Given the description of an element on the screen output the (x, y) to click on. 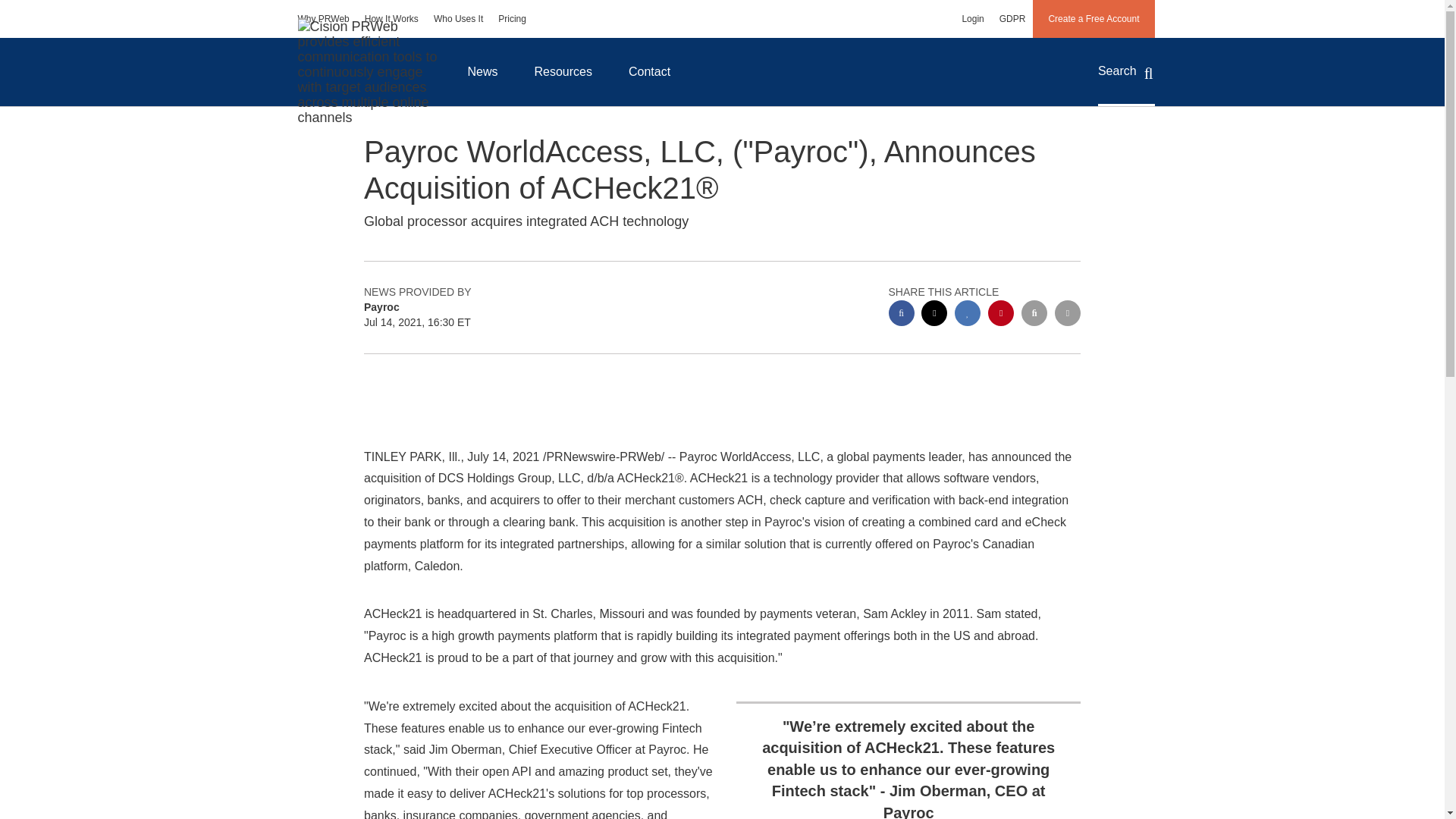
Pricing (512, 18)
GDPR (1012, 18)
Why PRWeb (322, 18)
News (481, 71)
Resources (563, 71)
Login (972, 18)
Who Uses It (458, 18)
How It Works (391, 18)
Contact (649, 71)
